Given the description of an element on the screen output the (x, y) to click on. 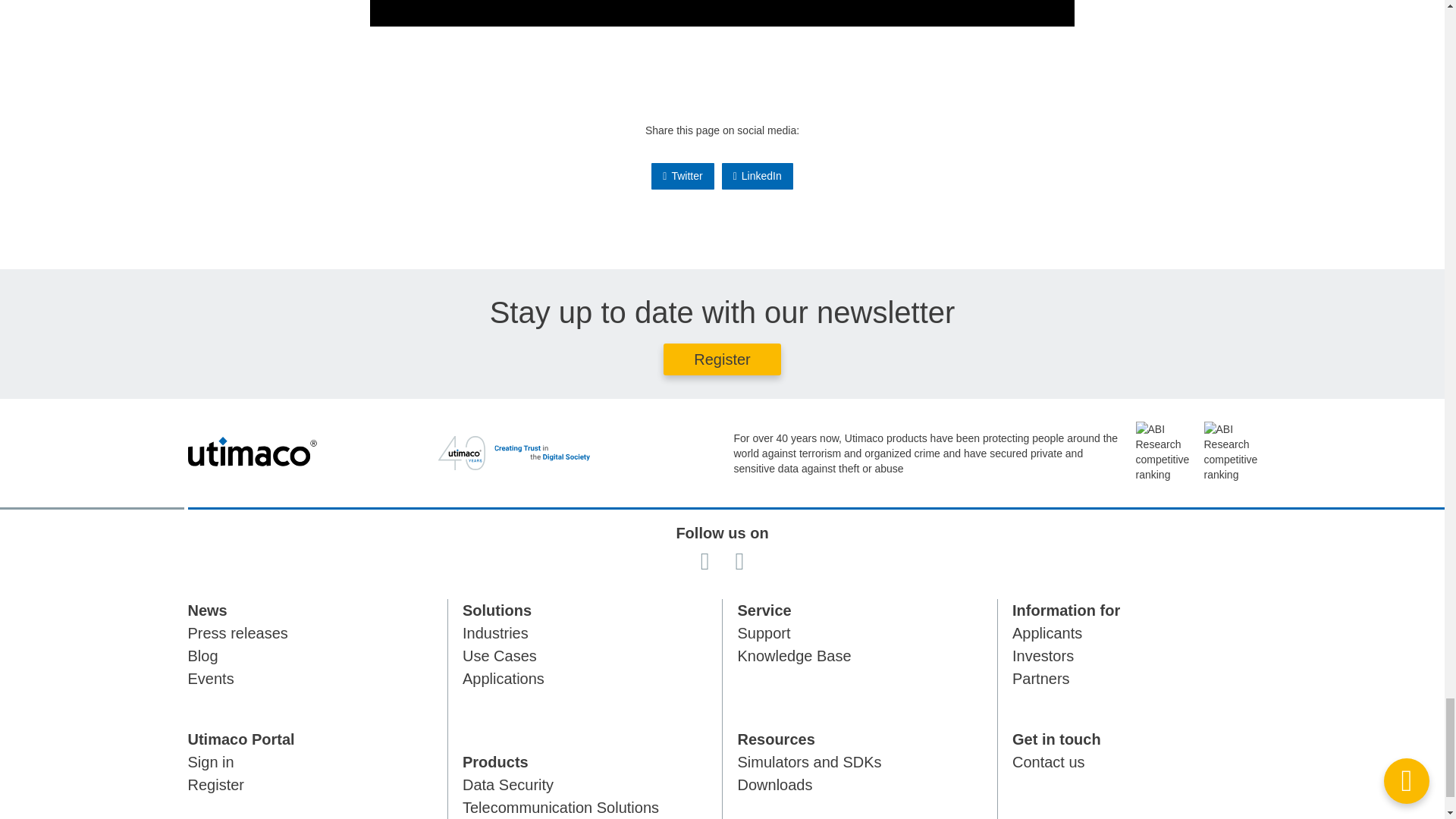
Industries (495, 632)
Simulators and SDKs (808, 761)
Careers (1046, 632)
Downloads (774, 784)
LinkedIn (757, 175)
Knowledge Base (793, 655)
Support (763, 632)
Twitter (681, 175)
Applications (503, 678)
Use Cases (500, 655)
